Given the description of an element on the screen output the (x, y) to click on. 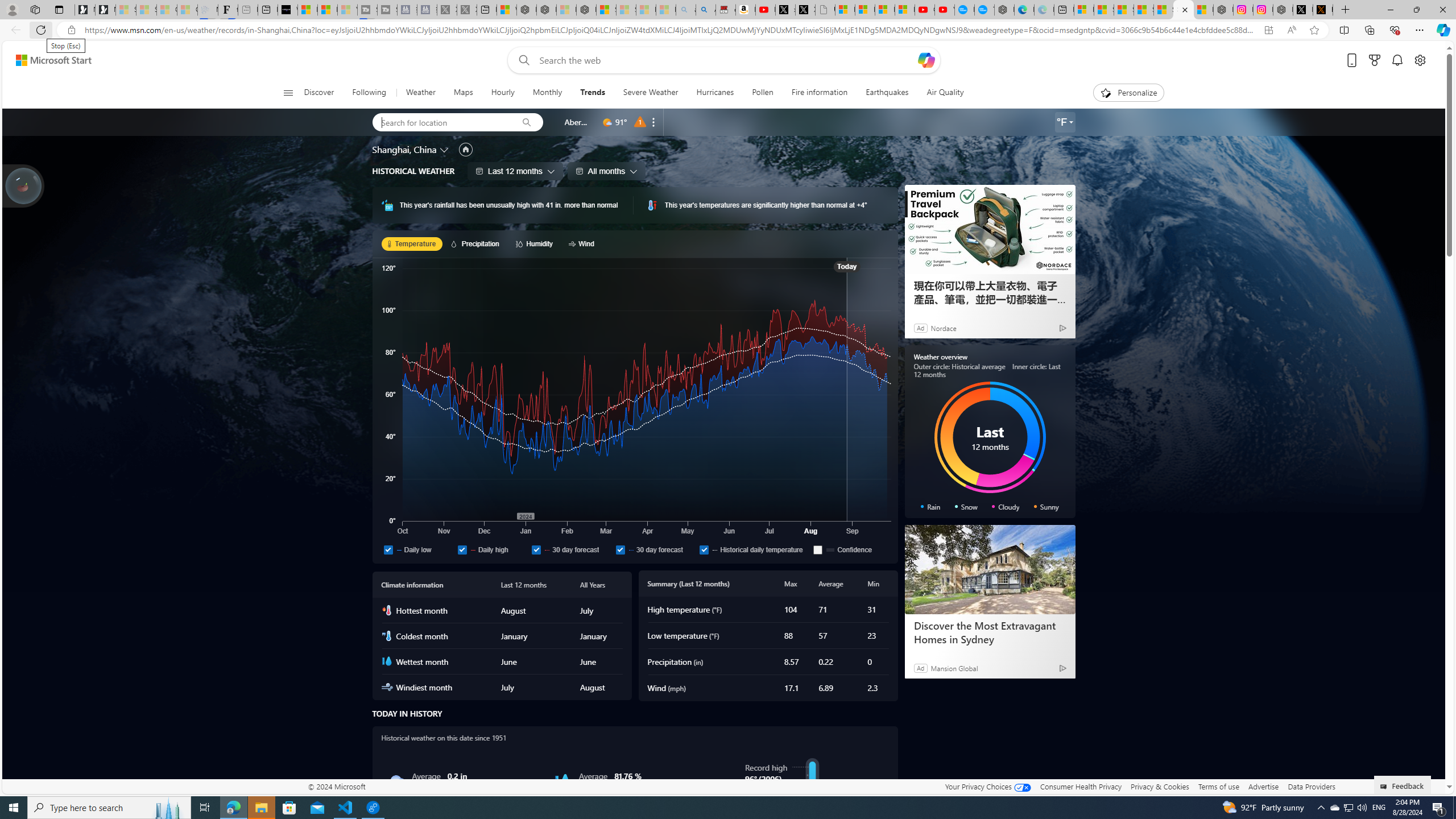
Notifications (1397, 60)
Microsoft Start (53, 60)
Earthquakes (886, 92)
Hourly (502, 92)
Hurricanes (714, 92)
Earthquakes (887, 92)
Open settings (1420, 60)
What's the best AI voice generator? - voice.ai (287, 9)
help.x.com | 524: A timeout occurred (1322, 9)
New tab - Sleeping (247, 9)
